Given the description of an element on the screen output the (x, y) to click on. 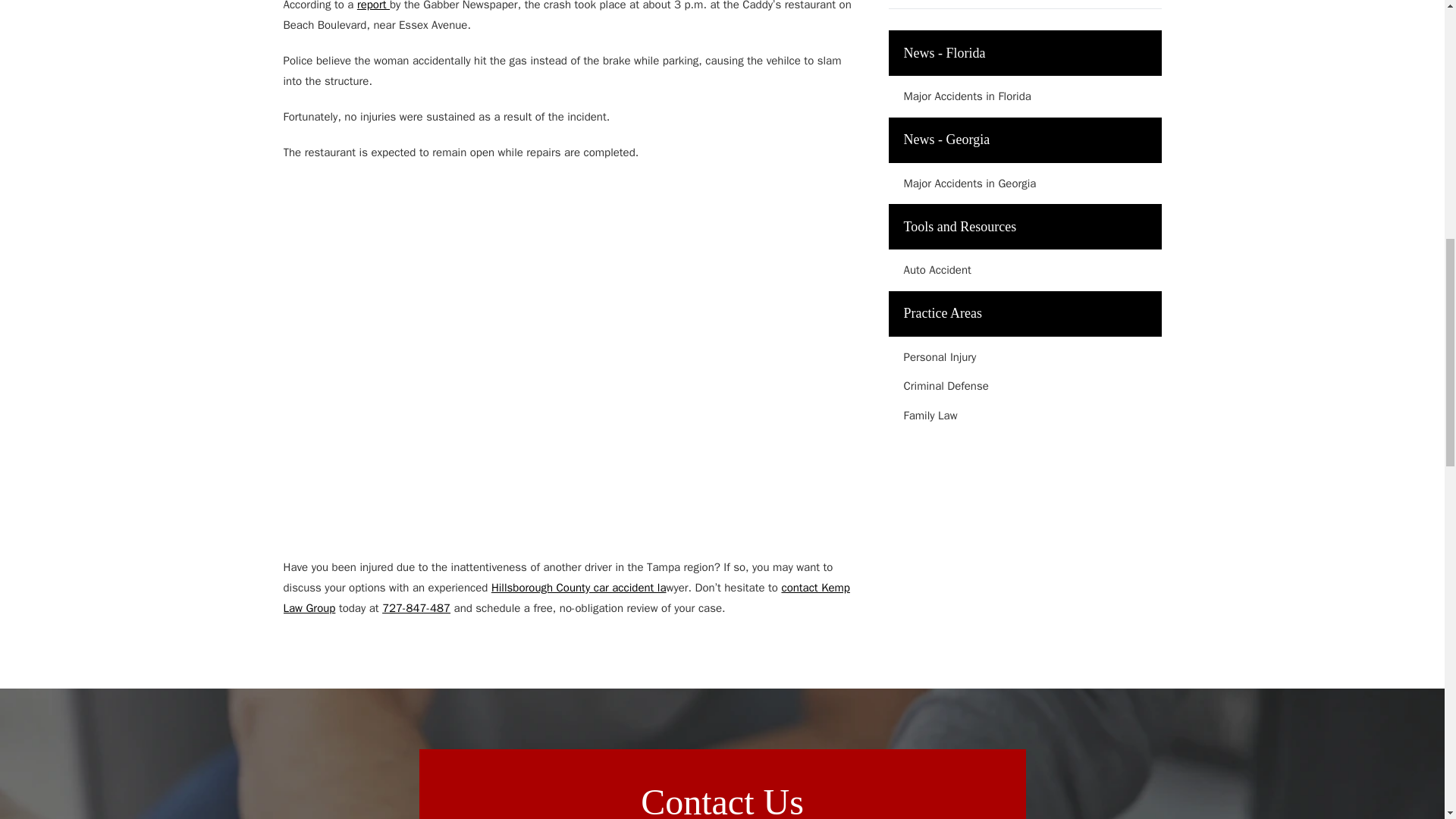
Hillsborough County car accident la (579, 587)
report (373, 5)
727-847-487 (415, 608)
contact Kemp Law Group (566, 597)
